Given the description of an element on the screen output the (x, y) to click on. 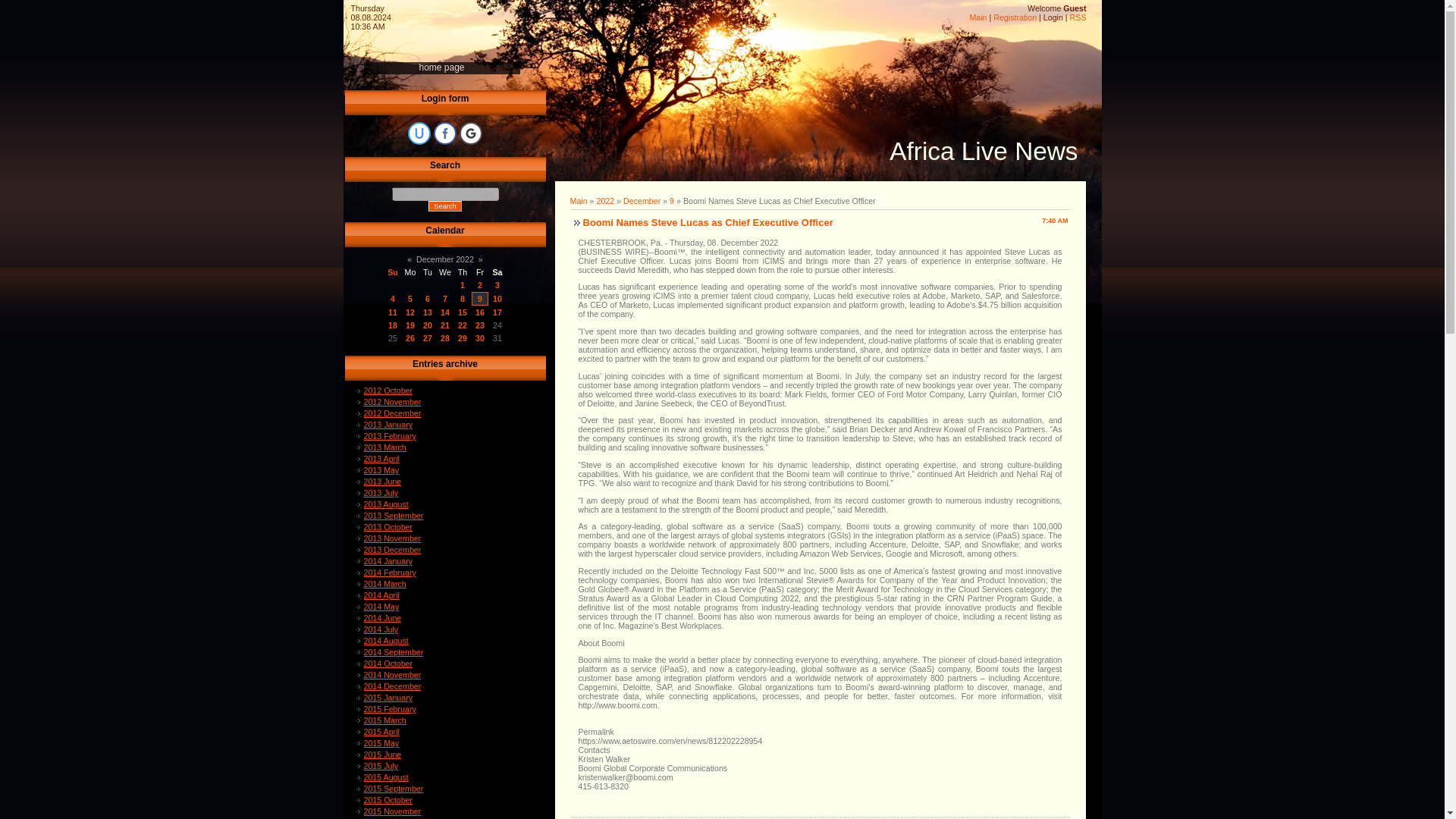
23 (480, 325)
Search (444, 205)
17 Messages (462, 311)
RSS (1078, 17)
22 (462, 325)
Log in with Google (470, 133)
13 (427, 311)
30 (480, 338)
29 (462, 338)
December 2022 (445, 258)
